Given the description of an element on the screen output the (x, y) to click on. 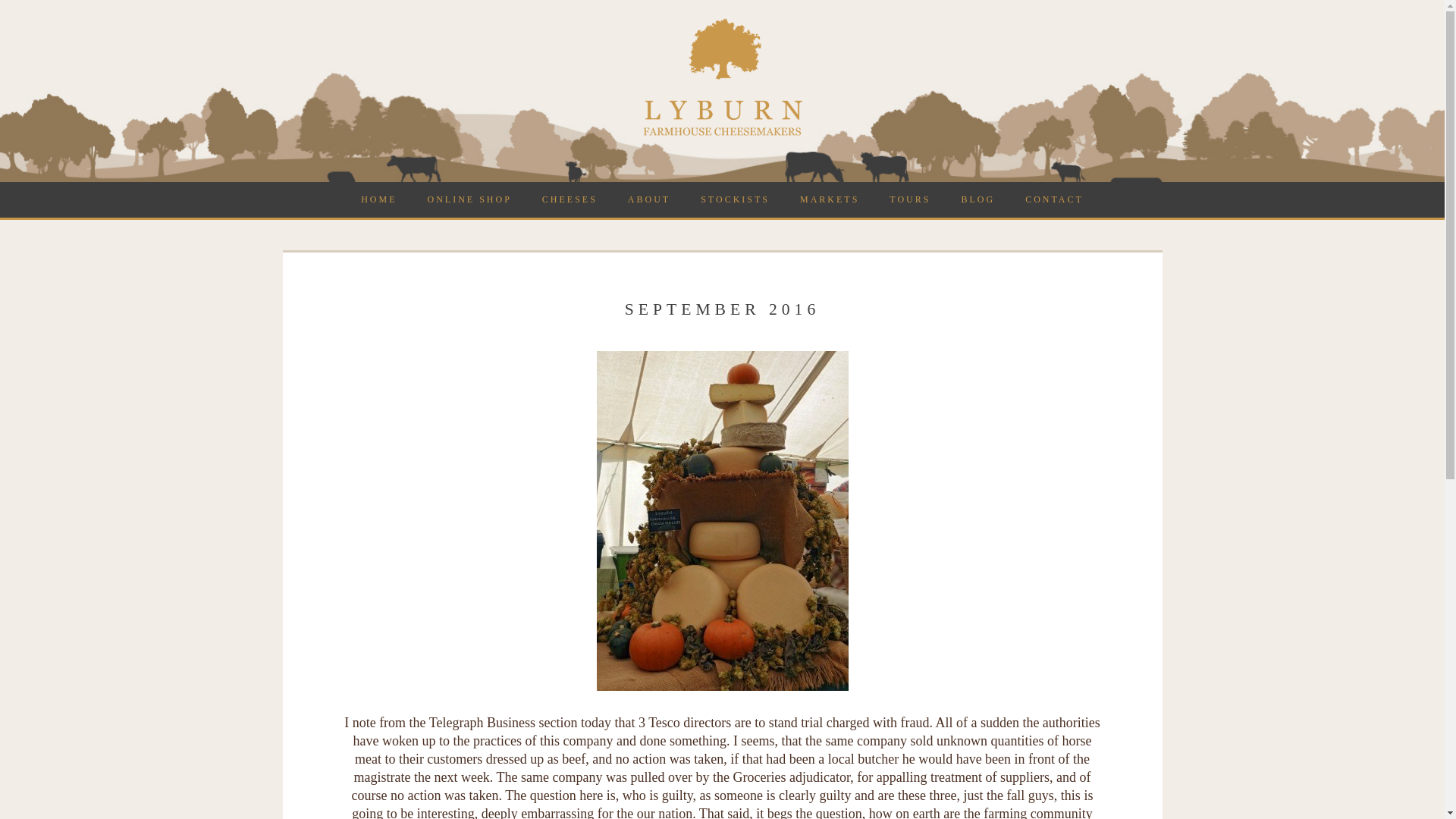
CHEESES (569, 199)
BLOG (977, 199)
STOCKISTS (734, 199)
HOME (379, 199)
Lyburn Cheese (722, 132)
Events (829, 199)
MARKETS (829, 199)
TOURS (909, 199)
Home (379, 199)
ABOUT (648, 199)
Contact (1054, 199)
Cheeses (569, 199)
ONLINE SHOP (468, 199)
CONTACT (1054, 199)
